Given the description of an element on the screen output the (x, y) to click on. 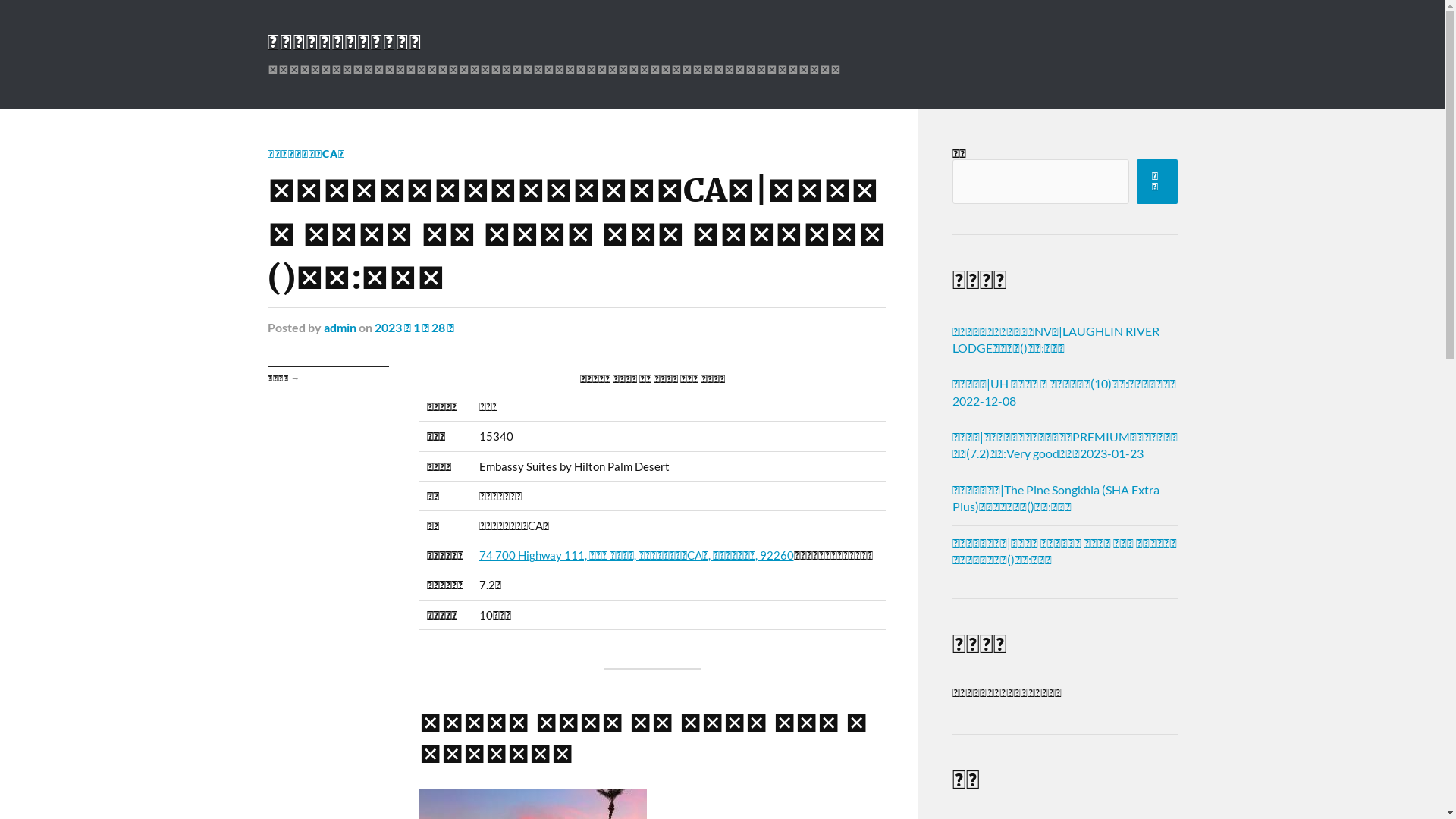
admin Element type: text (339, 327)
